Given the description of an element on the screen output the (x, y) to click on. 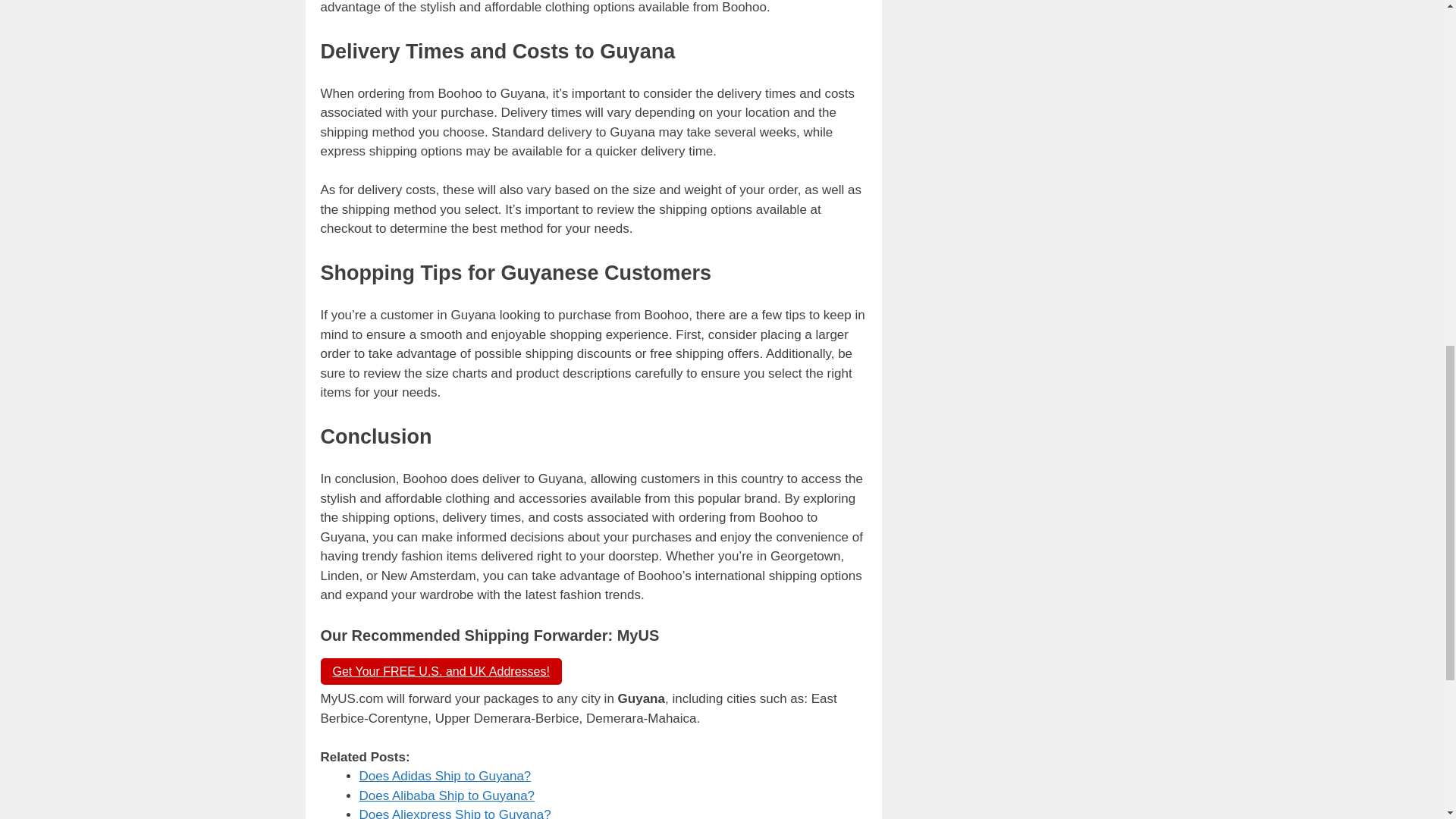
Does Alibaba Ship to Guyana? (447, 795)
Does Aliexpress Ship to Guyana? (455, 813)
Get Your FREE U.S. and UK Addresses! (440, 671)
Does Adidas Ship to Guyana? (445, 775)
